Given the description of an element on the screen output the (x, y) to click on. 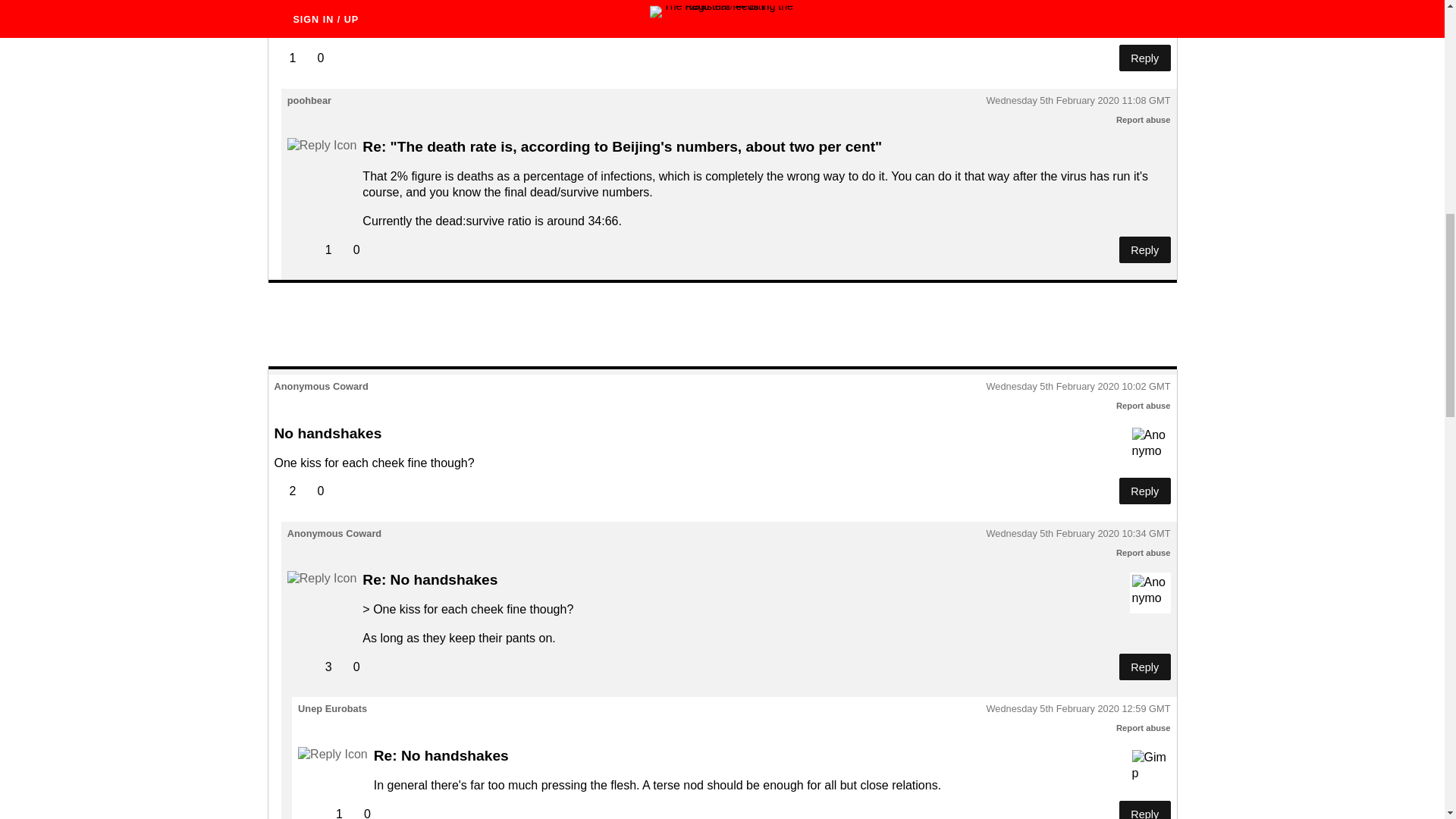
Report abuse (1143, 727)
Report abuse (1143, 552)
Report abuse (1143, 405)
Like this post? Vote for it! (286, 58)
Report abuse (1143, 119)
